Given the description of an element on the screen output the (x, y) to click on. 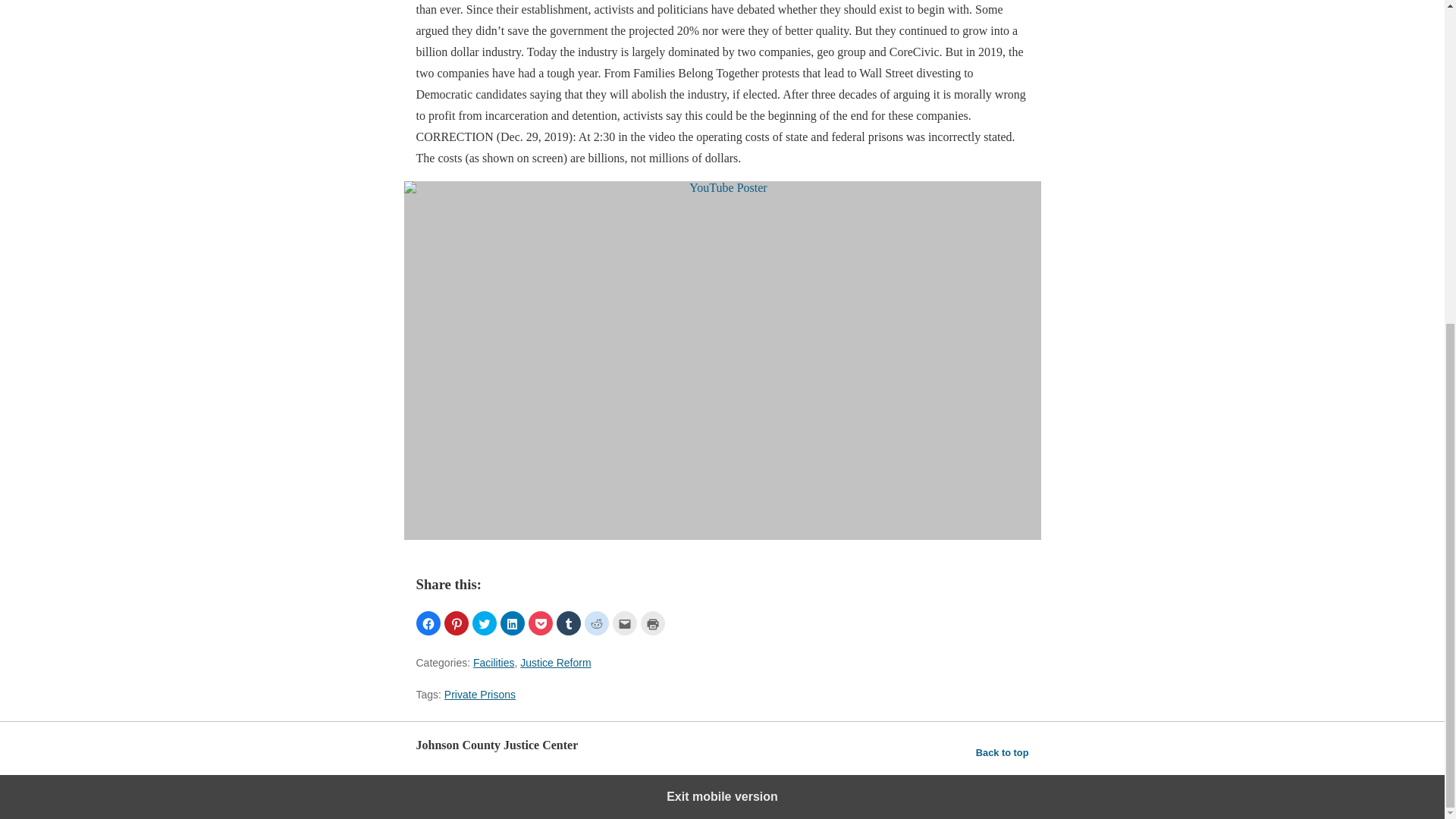
Print (651, 622)
Click to share on Facebook (426, 622)
Click to share on Reddit (595, 622)
Private Prisons (479, 694)
Click to share on LinkedIn (512, 622)
Click to share on Email (624, 622)
Click to share on Pinterest (456, 622)
Click to share on Tumblr (568, 622)
Click to share on Twitter (483, 622)
Justice Reform (555, 662)
